Given the description of an element on the screen output the (x, y) to click on. 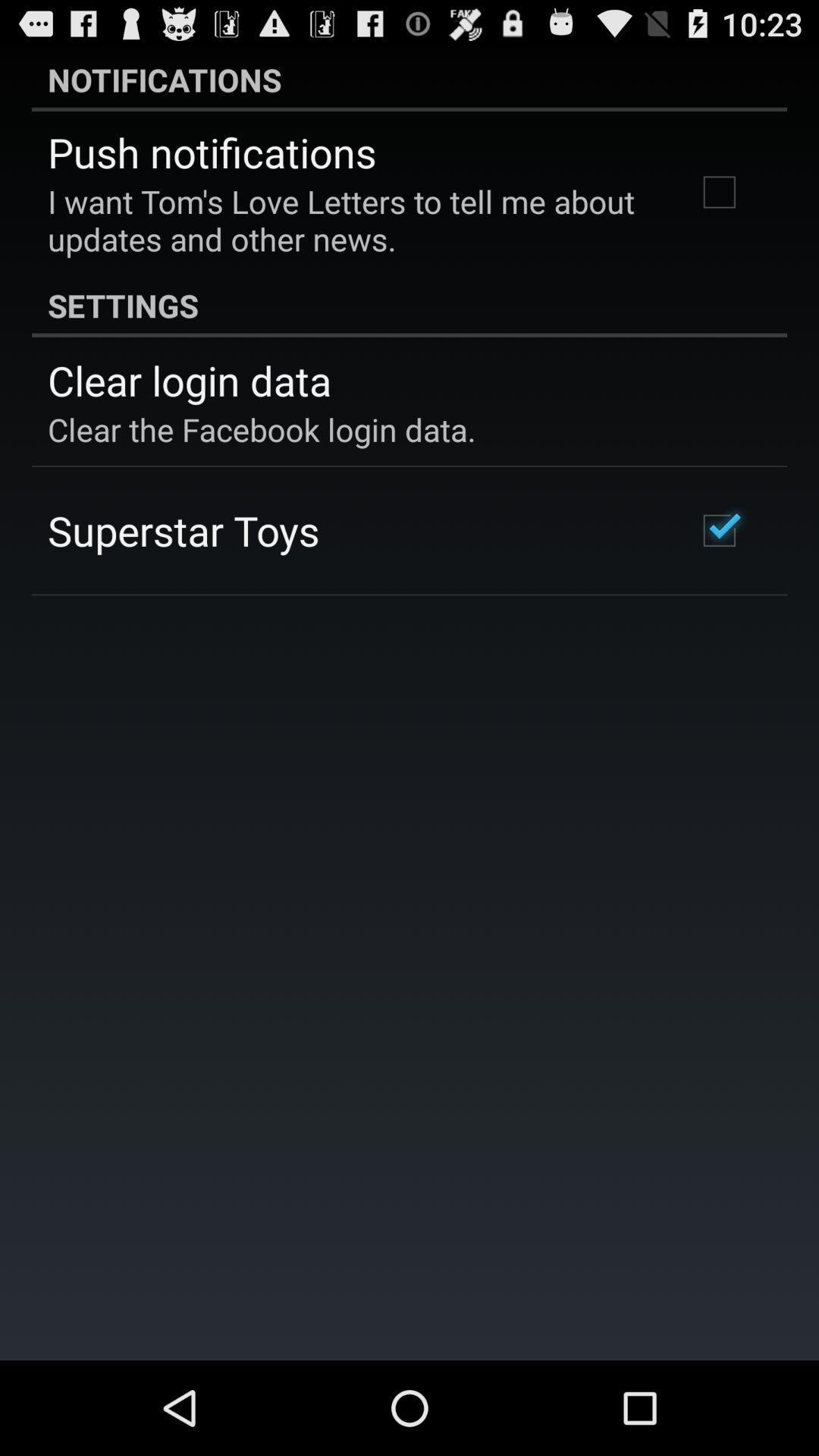
jump to i want tom icon (351, 219)
